Given the description of an element on the screen output the (x, y) to click on. 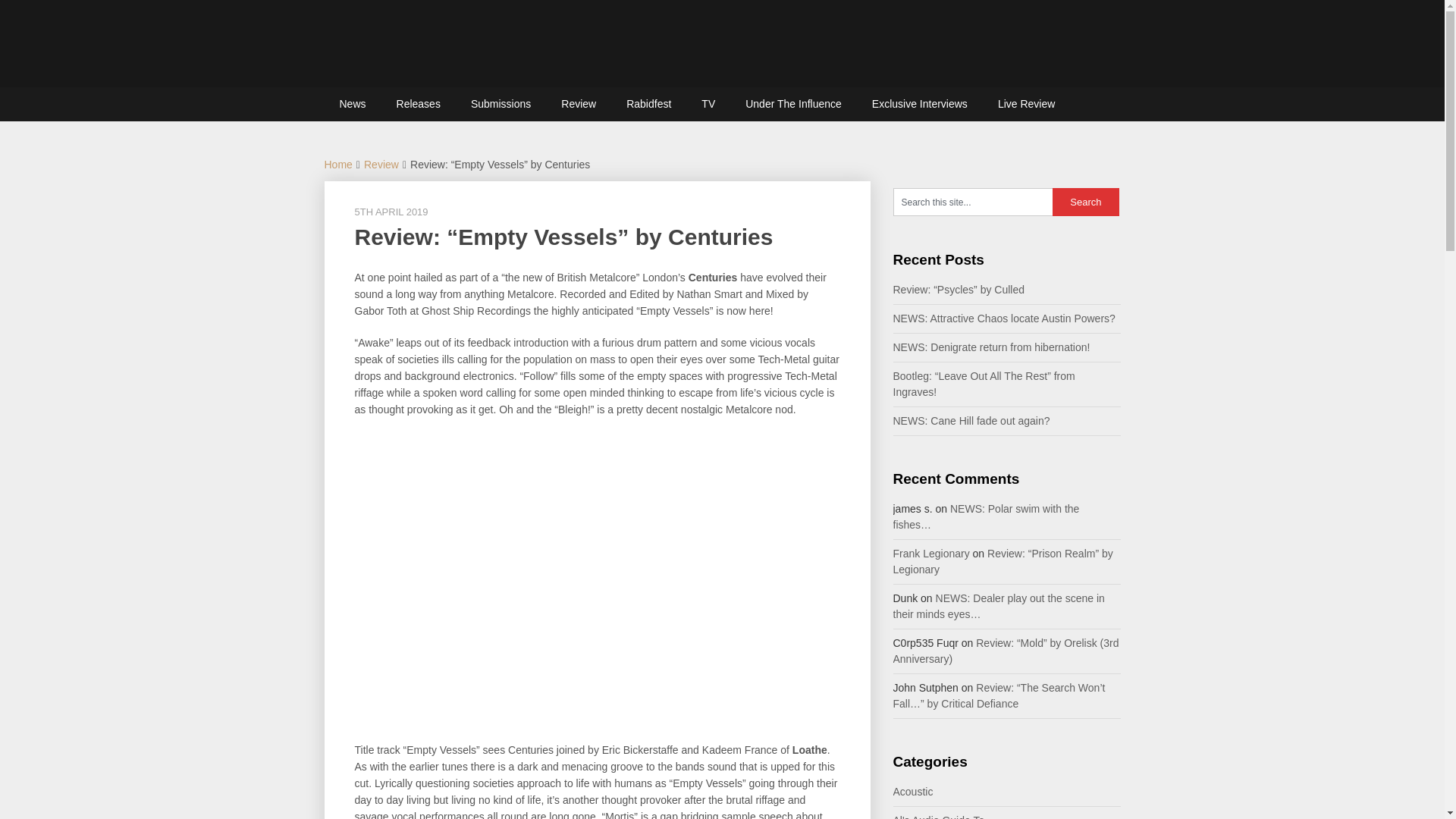
Search this site... (972, 202)
Live Review (1026, 103)
NEWS: Attractive Chaos locate Austin Powers? (1004, 318)
NEWS: Cane Hill fade out again? (971, 420)
Acoustic (913, 791)
Exclusive Interviews (919, 103)
TV (707, 103)
NEWS: Denigrate return from hibernation! (991, 346)
Search (1085, 202)
Releases (418, 103)
Home (338, 164)
Submissions (500, 103)
Search (1085, 202)
Rabidfest (648, 103)
Frank Legionary (931, 553)
